Given the description of an element on the screen output the (x, y) to click on. 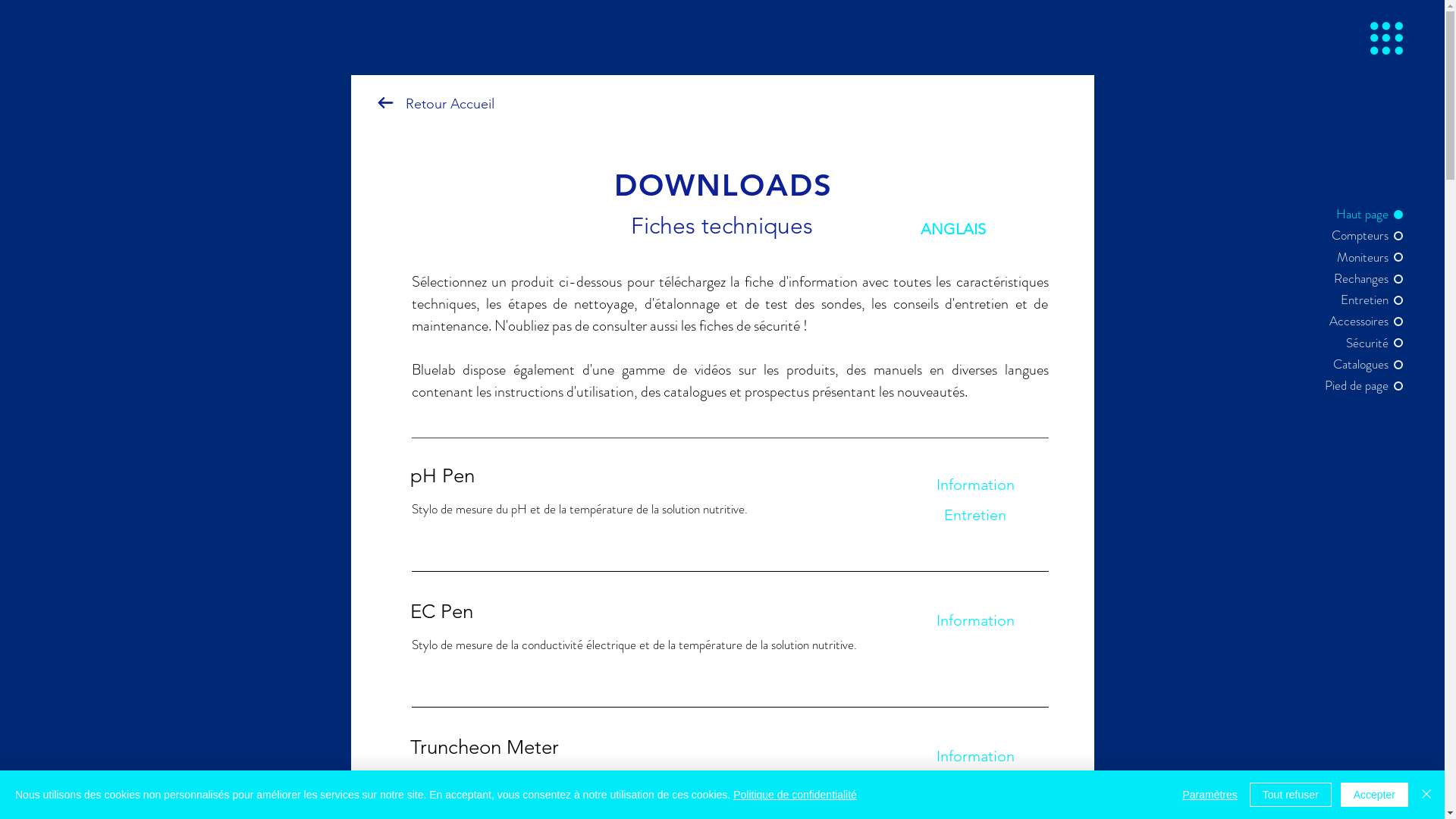
Entretien Element type: text (974, 786)
Accepter Element type: text (1374, 794)
Moniteurs Element type: text (1350, 257)
Information Element type: text (974, 484)
Catalogues Element type: text (1350, 364)
Compteurs Element type: text (1350, 235)
Information Element type: text (974, 755)
Pied de page Element type: text (1350, 385)
Entretien Element type: text (1350, 300)
Tout refuser Element type: text (1290, 794)
Haut page Element type: text (1350, 214)
Rechanges Element type: text (1350, 278)
Accessoires Element type: text (1350, 321)
Information Element type: text (974, 620)
Retour Accueil Element type: text (448, 103)
Entretien Element type: text (974, 514)
